Given the description of an element on the screen output the (x, y) to click on. 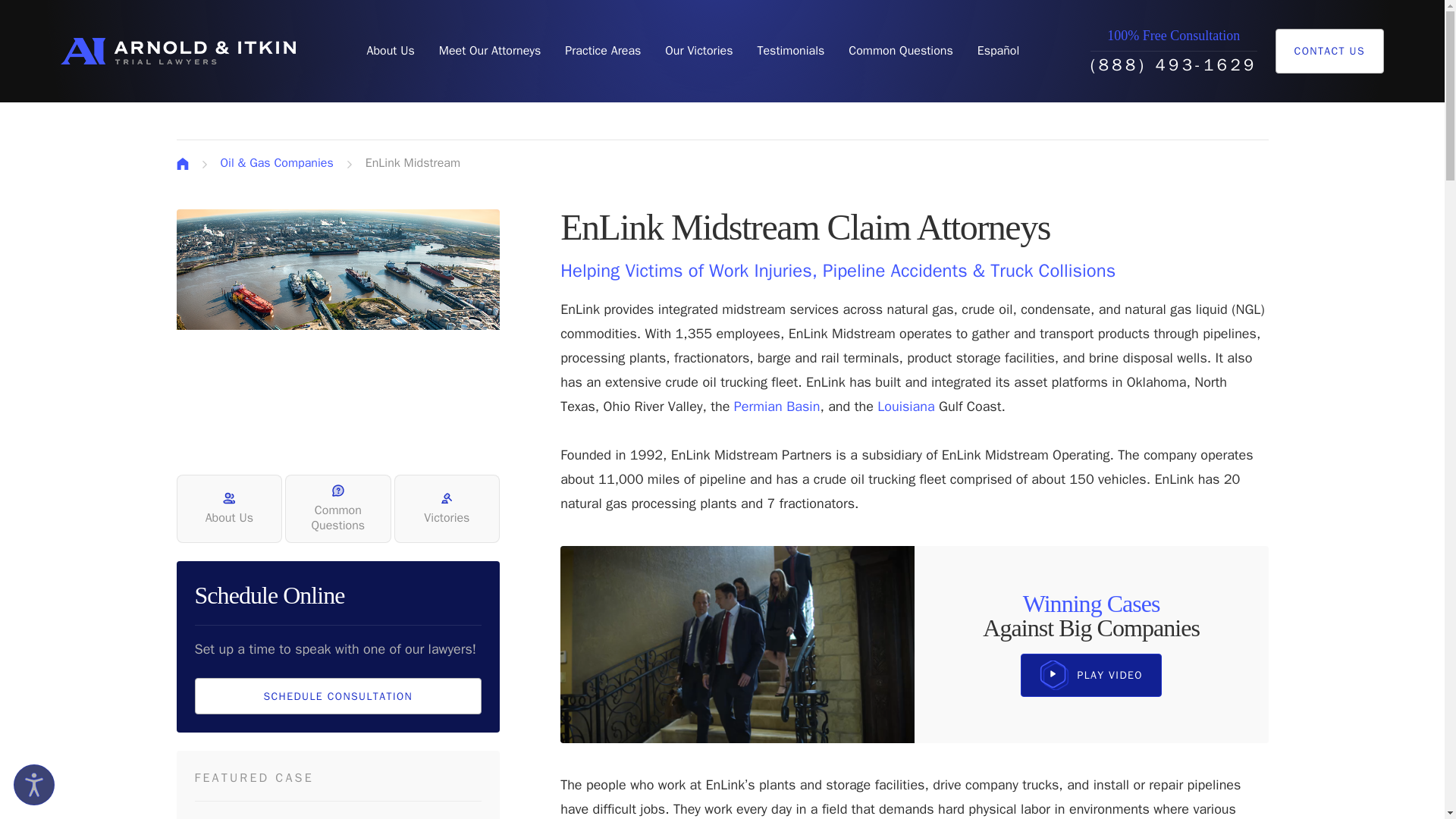
Meet Our Attorneys (490, 51)
Home (178, 50)
Go Home (181, 163)
About Us (389, 51)
Play Video (1090, 674)
